Given the description of an element on the screen output the (x, y) to click on. 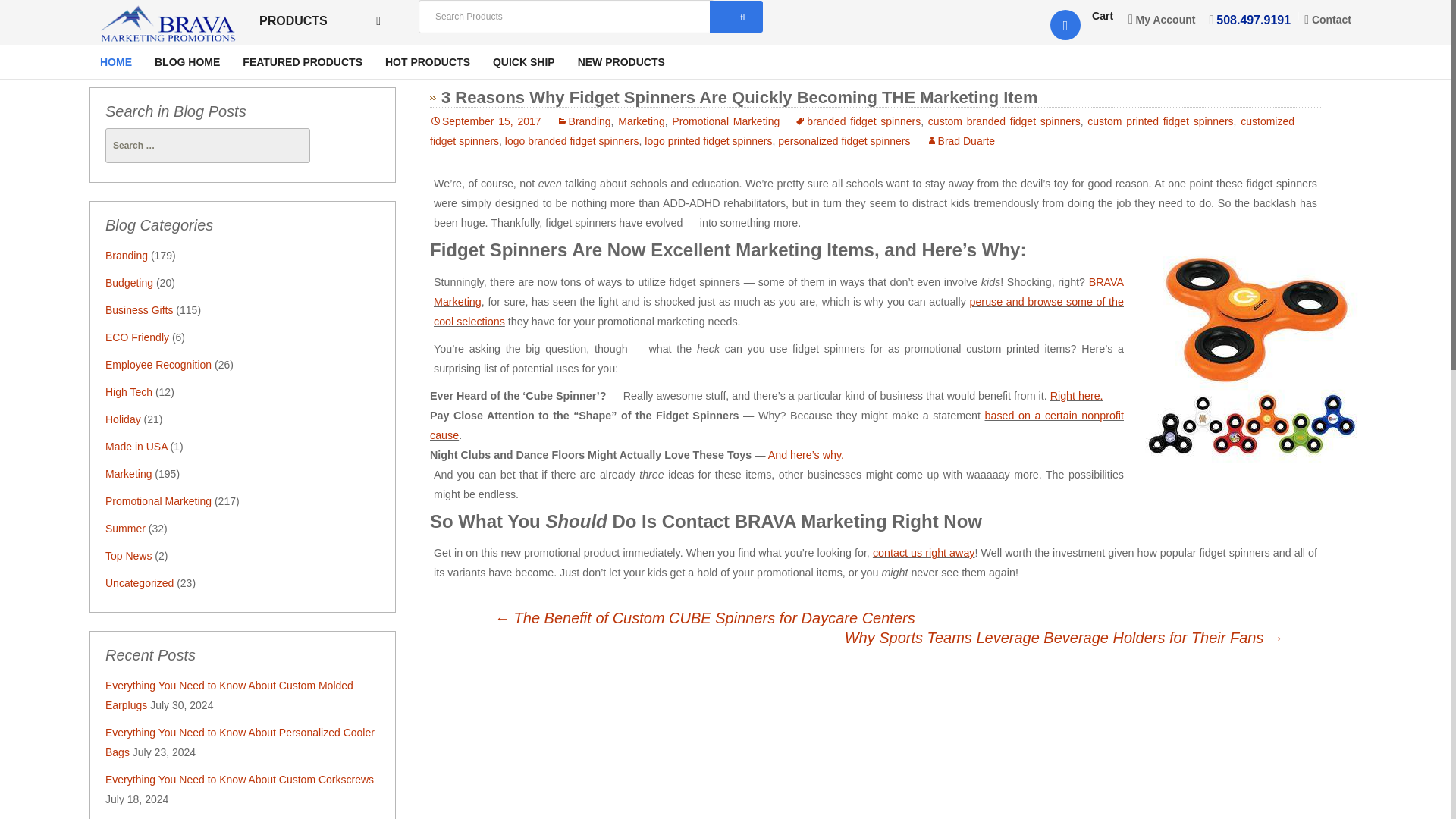
Contact (1326, 19)
My Account  (1165, 19)
View all posts by Brad Duarte (960, 141)
BravaMarketing (167, 23)
